Given the description of an element on the screen output the (x, y) to click on. 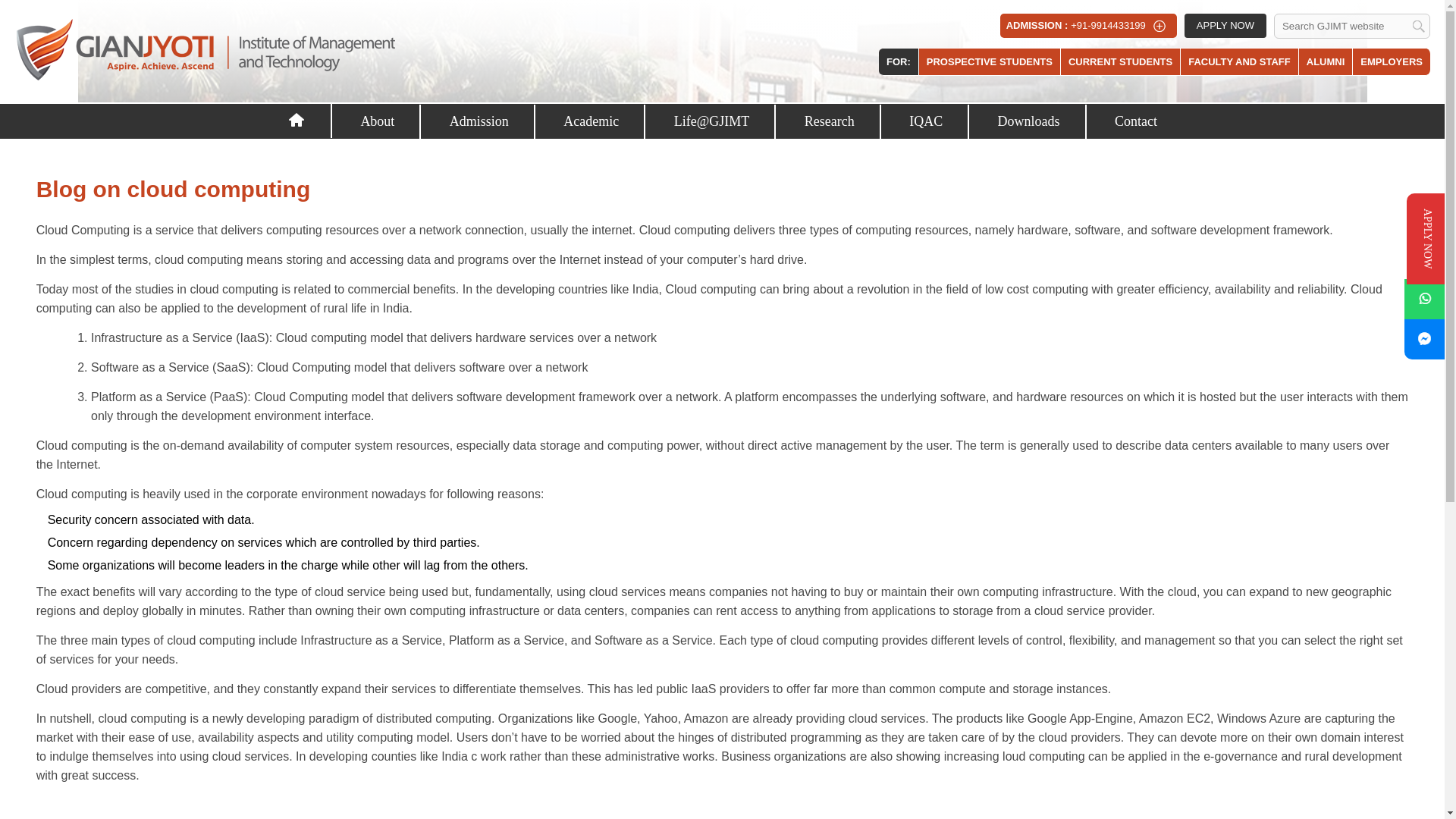
FACULTY AND STAFF (1239, 61)
Research (829, 121)
Academic (591, 121)
CURRENT STUDENTS (1120, 61)
ALUMNI (1325, 61)
PROSPECTIVE STUDENTS (989, 61)
EMPLOYERS (1390, 61)
APPLY NOW (1225, 25)
About (377, 121)
Contact (1135, 121)
IQAC (926, 121)
Admission (480, 121)
Downloads (1029, 121)
